Given the description of an element on the screen output the (x, y) to click on. 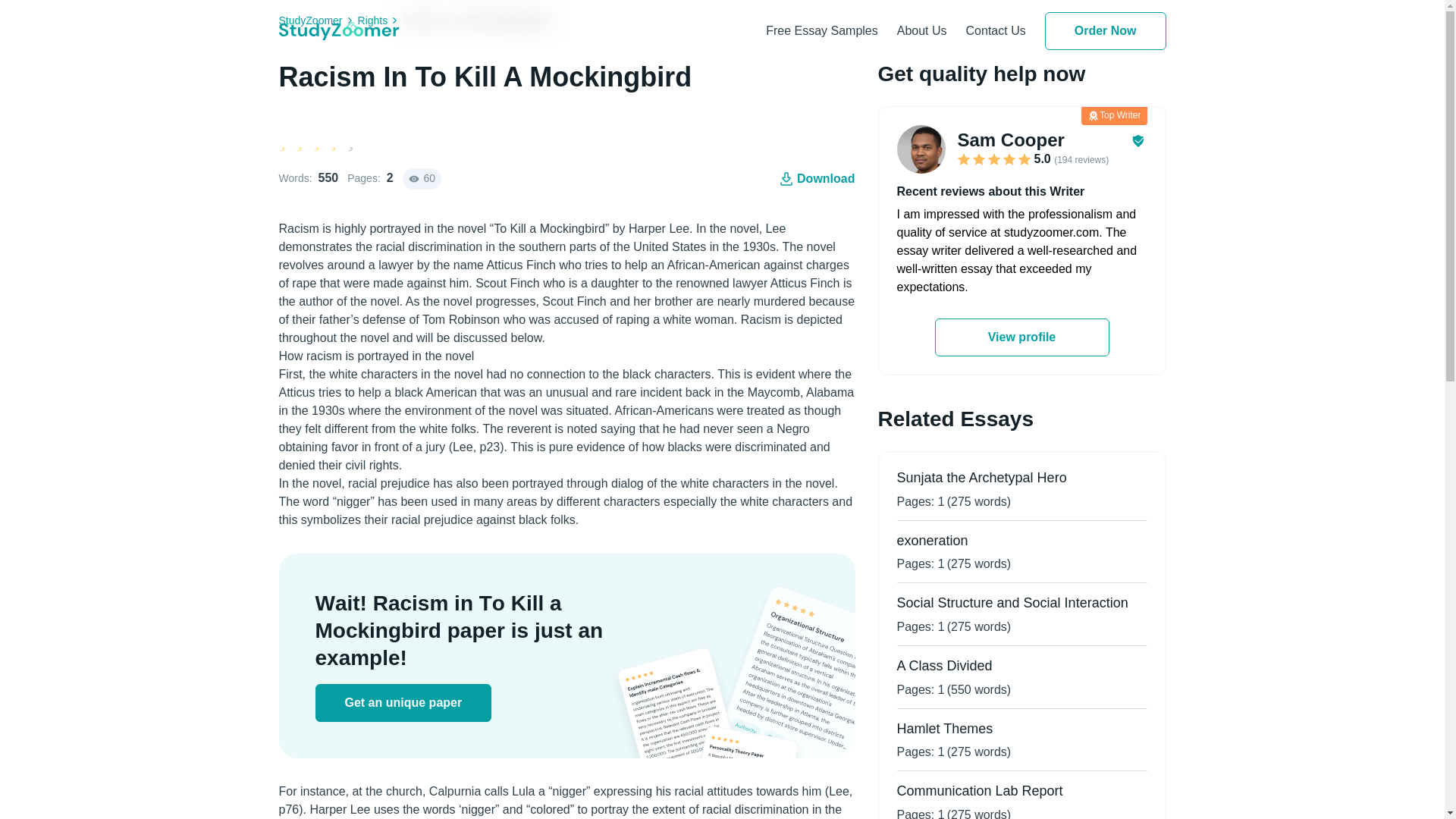
Get an unique paper (403, 702)
Communication Lab Report (979, 790)
Free Essay Samples (821, 31)
Sunjata the Archetypal Hero (980, 477)
exoneration (932, 540)
Order Now (1105, 30)
A Class Divided (943, 665)
Study Zoomer (338, 31)
Rights (380, 20)
About Us (921, 31)
Get an unique paper (403, 702)
Hamlet Themes (944, 728)
View profile (1021, 337)
StudyZoomer (318, 20)
Social Structure and Social Interaction (1011, 602)
